Given the description of an element on the screen output the (x, y) to click on. 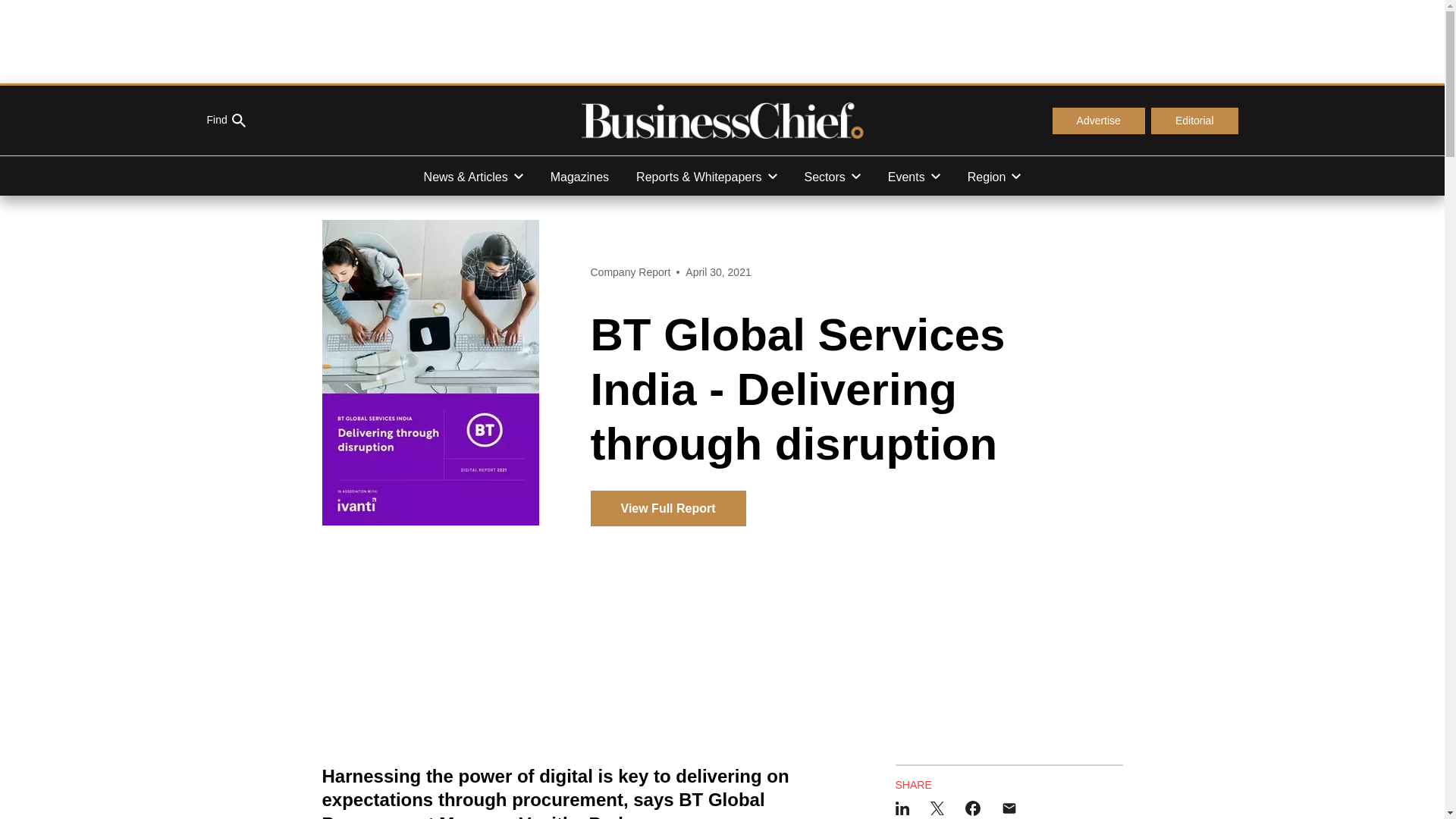
Advertise (1098, 121)
Editorial (1195, 121)
Region (994, 175)
Sectors (832, 175)
Find (225, 120)
Events (914, 175)
Magazines (580, 175)
